Given the description of an element on the screen output the (x, y) to click on. 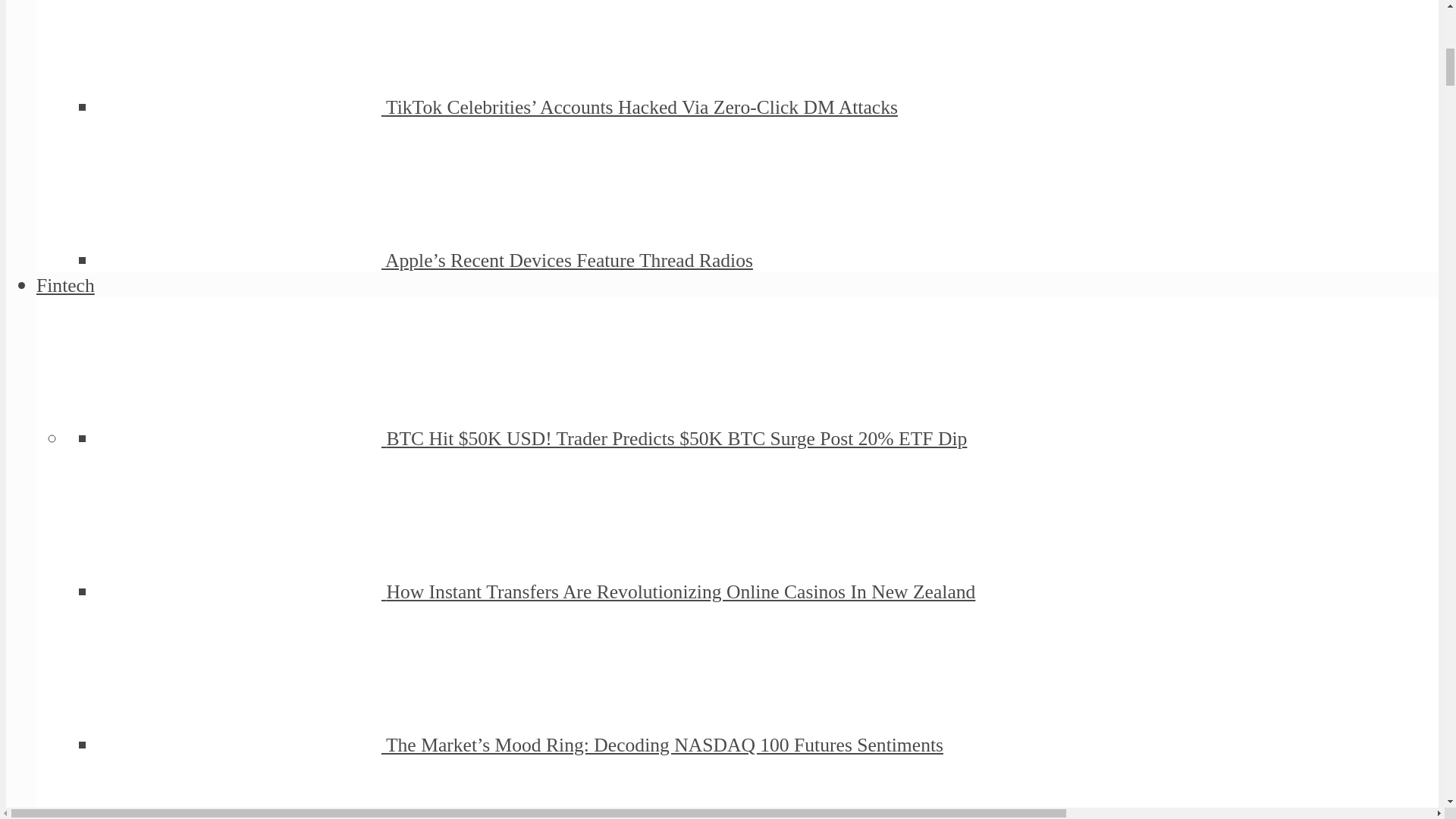
Fintech (65, 285)
